Given the description of an element on the screen output the (x, y) to click on. 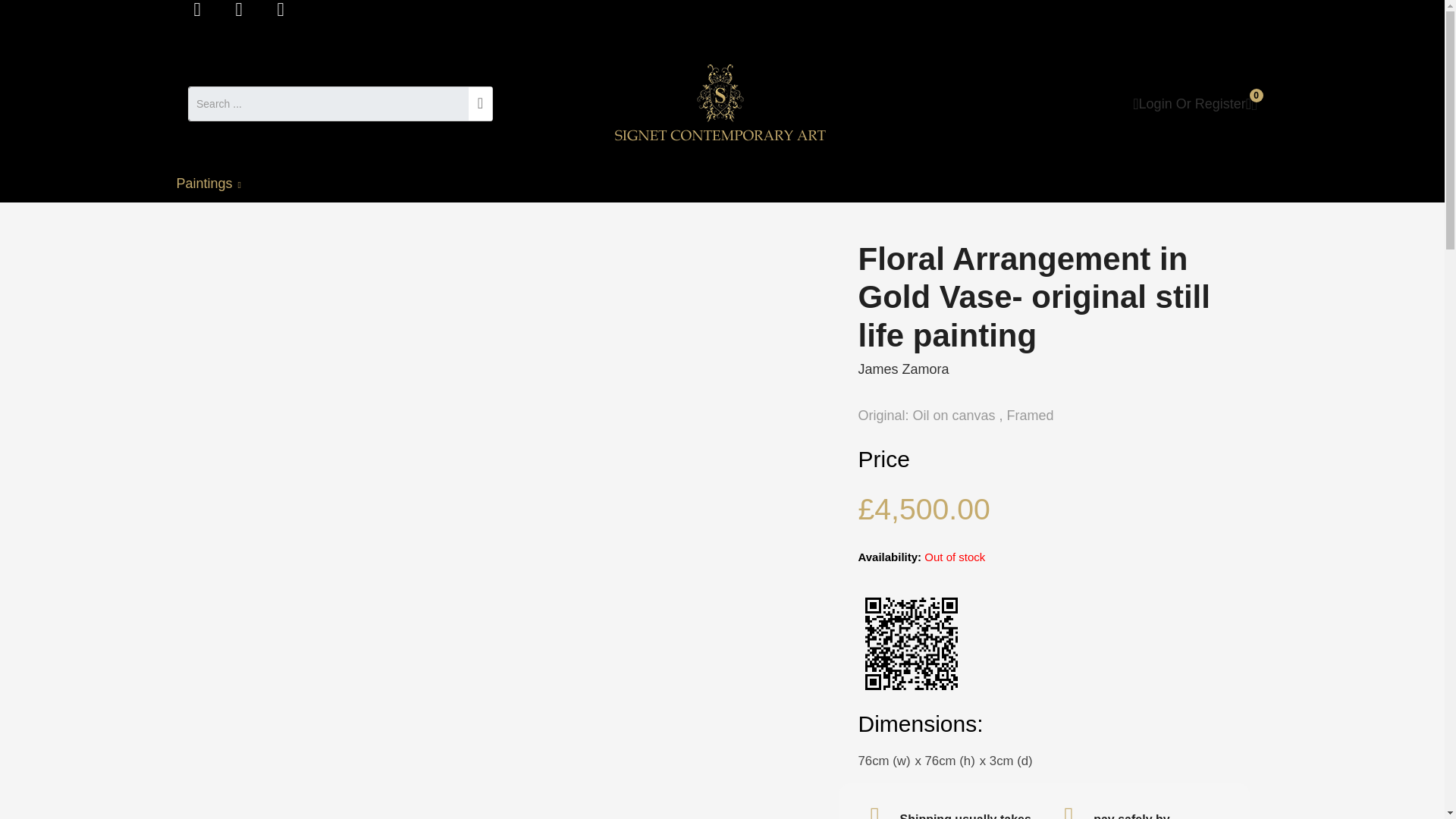
Artists (472, 183)
Login Or Register (1188, 103)
Auctions (391, 183)
Sculptures (303, 183)
Paintings (216, 183)
